Given the description of an element on the screen output the (x, y) to click on. 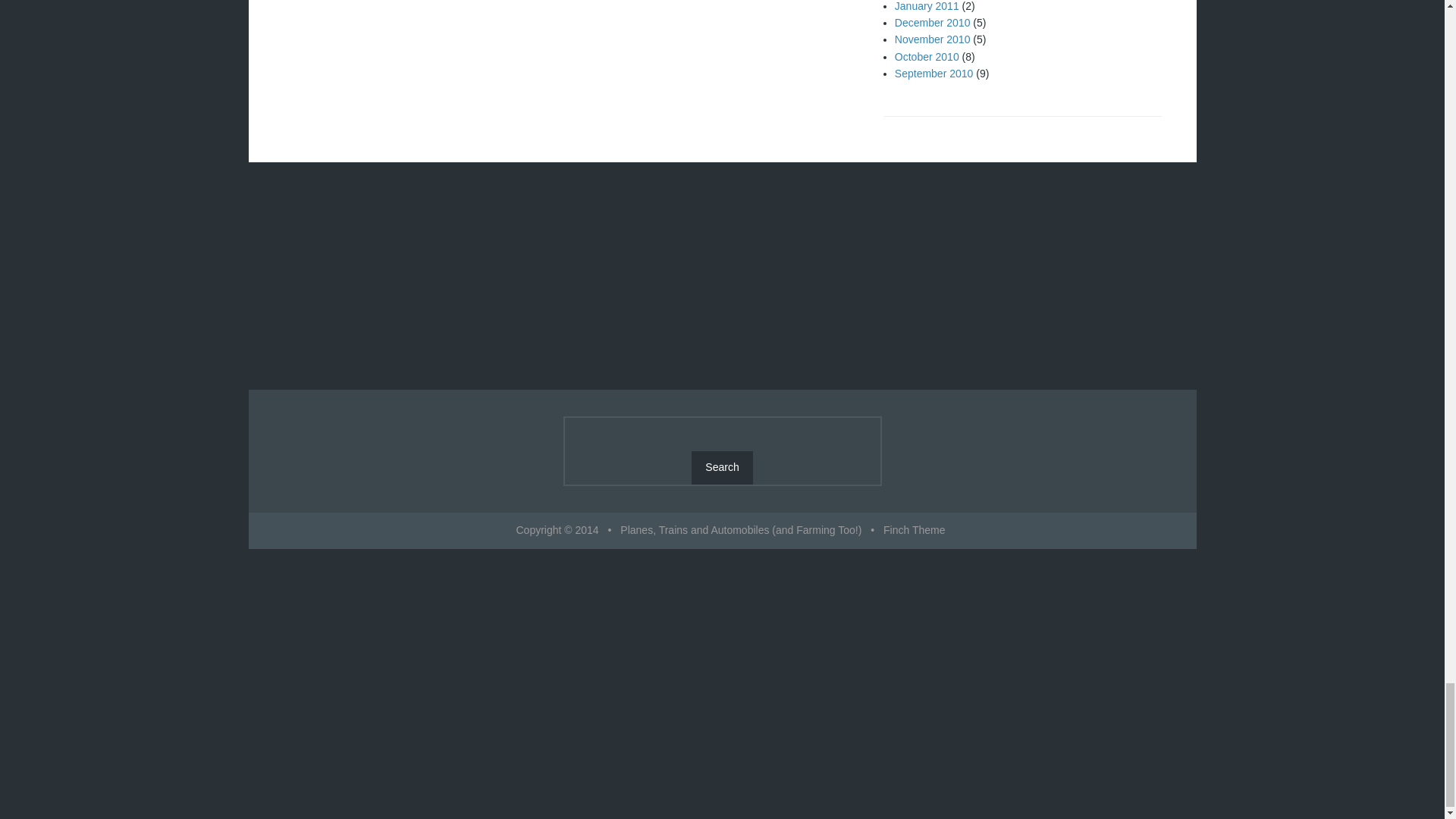
Search (721, 467)
Search (721, 467)
Finch WordPress Theme (913, 530)
